Given the description of an element on the screen output the (x, y) to click on. 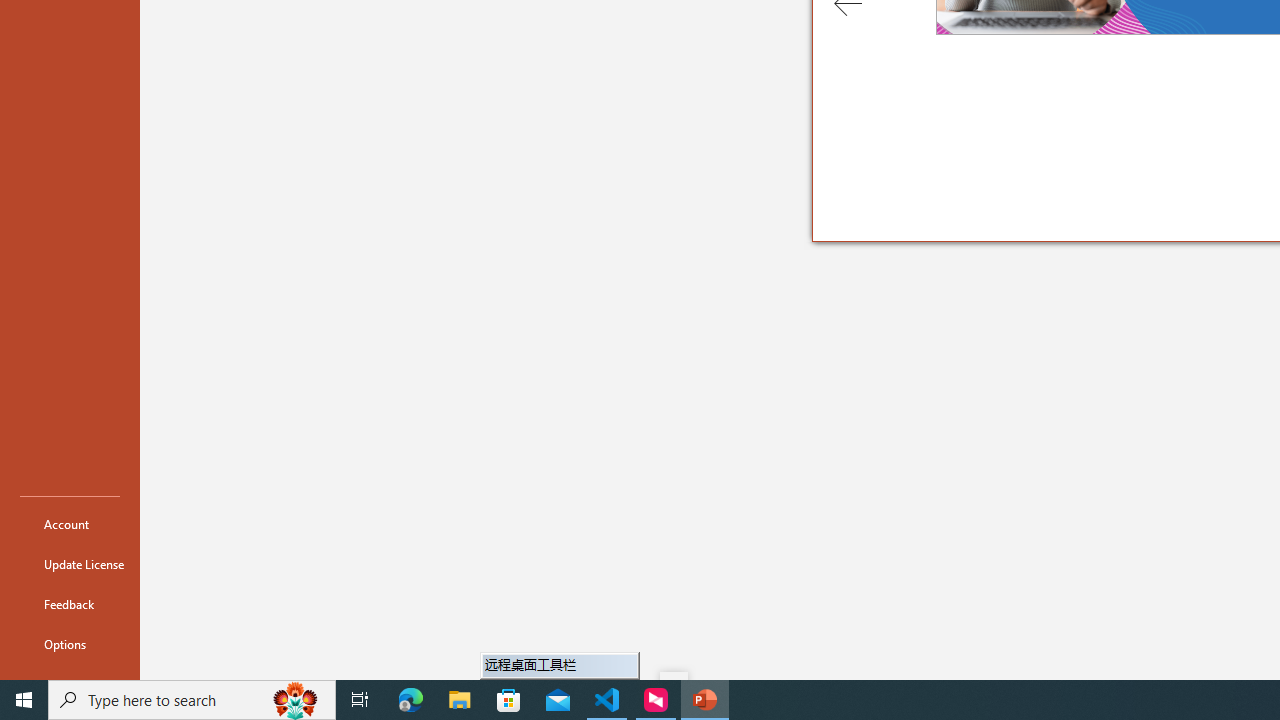
Options (69, 643)
Account (69, 523)
Update License (69, 563)
Feedback (69, 603)
